Given the description of an element on the screen output the (x, y) to click on. 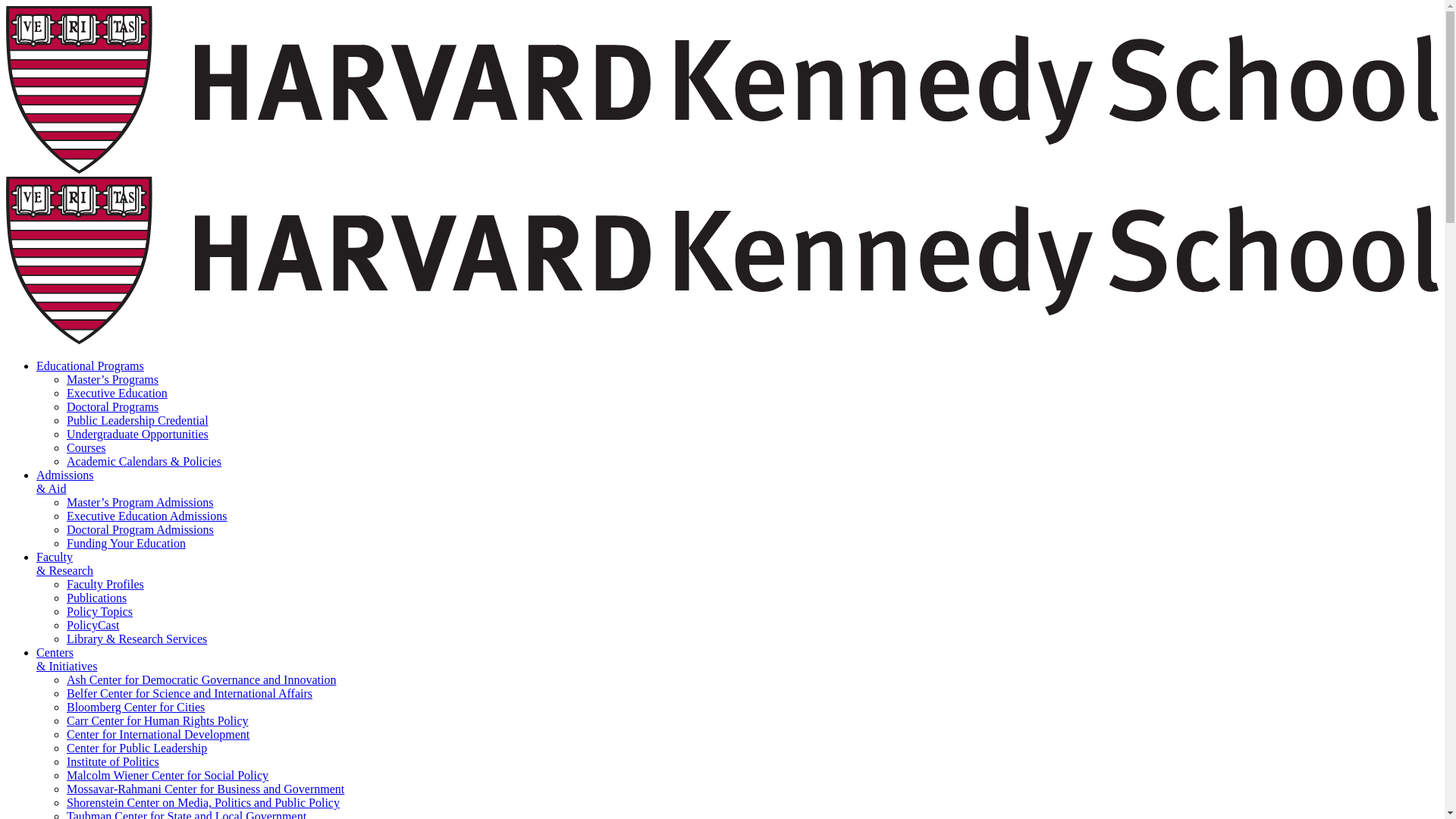
Doctoral Programs (112, 406)
Doctoral Program Admissions (140, 529)
Taubman Center for State and Local Government (185, 814)
Mossavar-Rahmani Center for Business and Government (204, 788)
Funding Your Education (126, 543)
Public Leadership Credential (137, 420)
Ash Center for Democratic Governance and Innovation (201, 679)
Center for Public Leadership (136, 748)
Faculty Profiles (105, 584)
Center for International Development (157, 734)
Shorenstein Center on Media, Politics and Public Policy (202, 802)
Malcolm Wiener Center for Social Policy (166, 775)
Executive Education Admissions (146, 515)
Taubman Center for State and Local Government (185, 814)
Institute of Politics (112, 761)
